Given the description of an element on the screen output the (x, y) to click on. 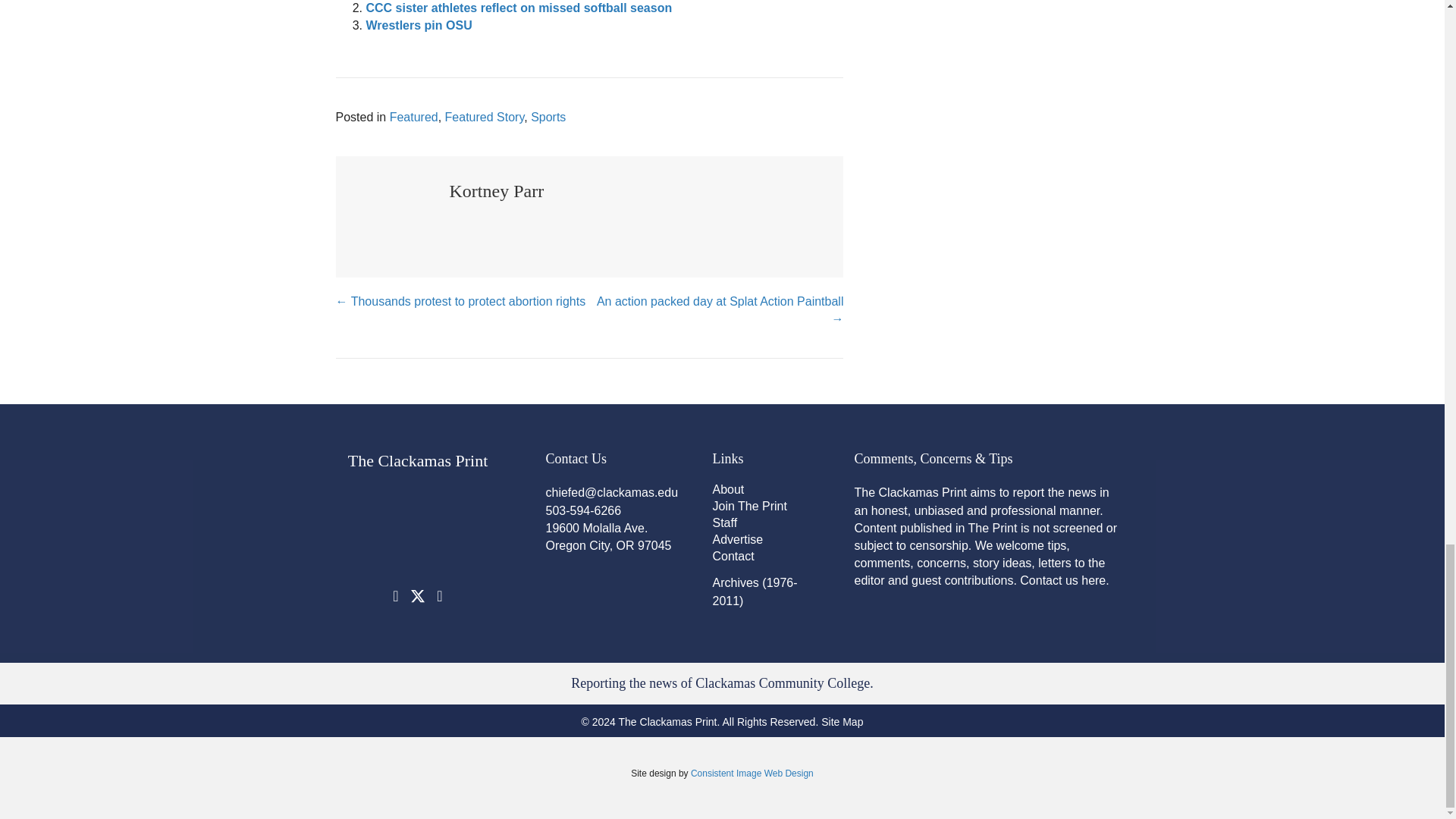
Facebook (395, 596)
Wrestlers pin OSU (418, 24)
CCC sister athletes reflect on missed softball season (518, 7)
CCC sister athletes reflect on missed softball season (518, 7)
Wrestlers pin OSU (418, 24)
